Given the description of an element on the screen output the (x, y) to click on. 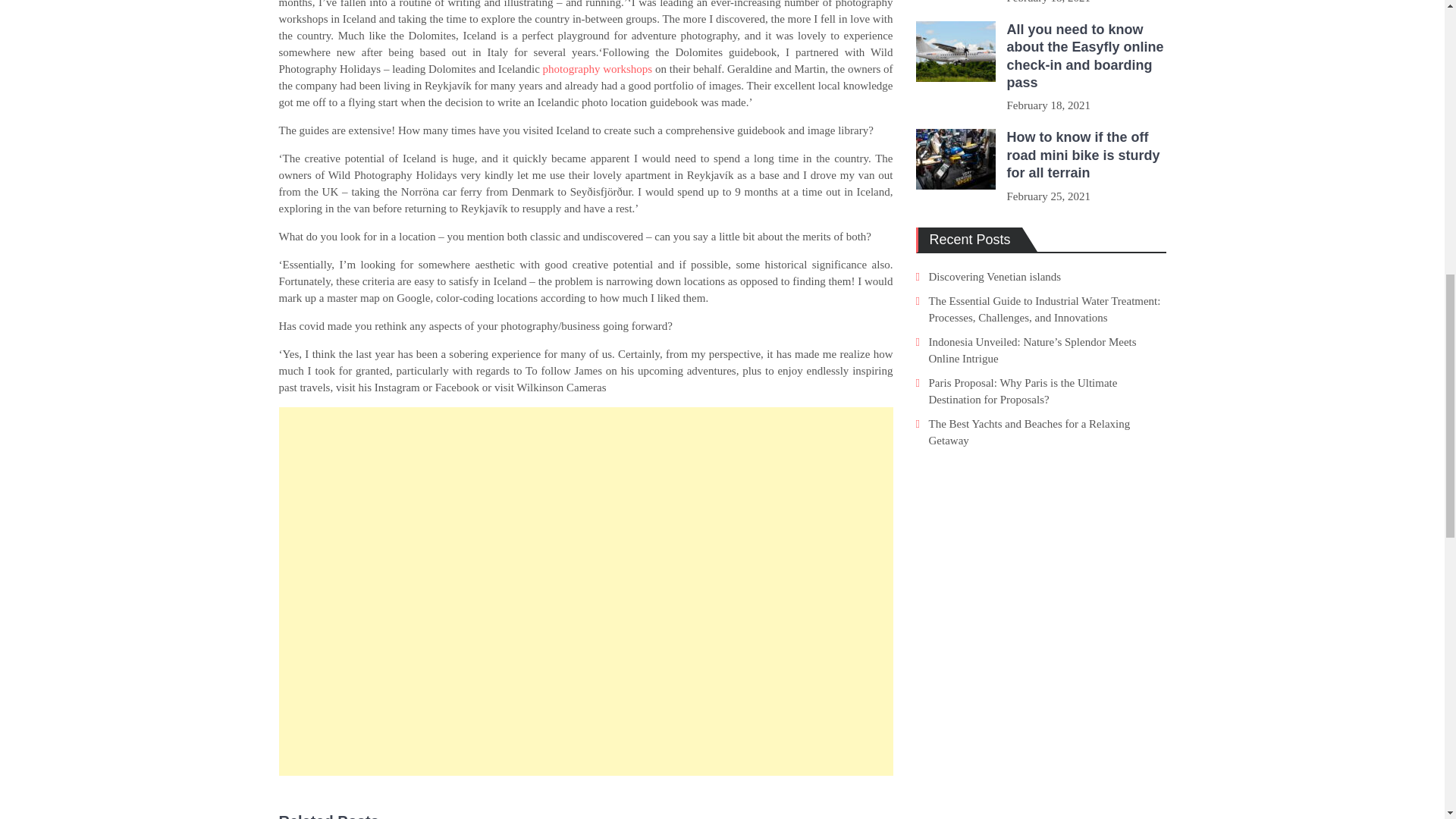
photography workshops (597, 69)
